Given the description of an element on the screen output the (x, y) to click on. 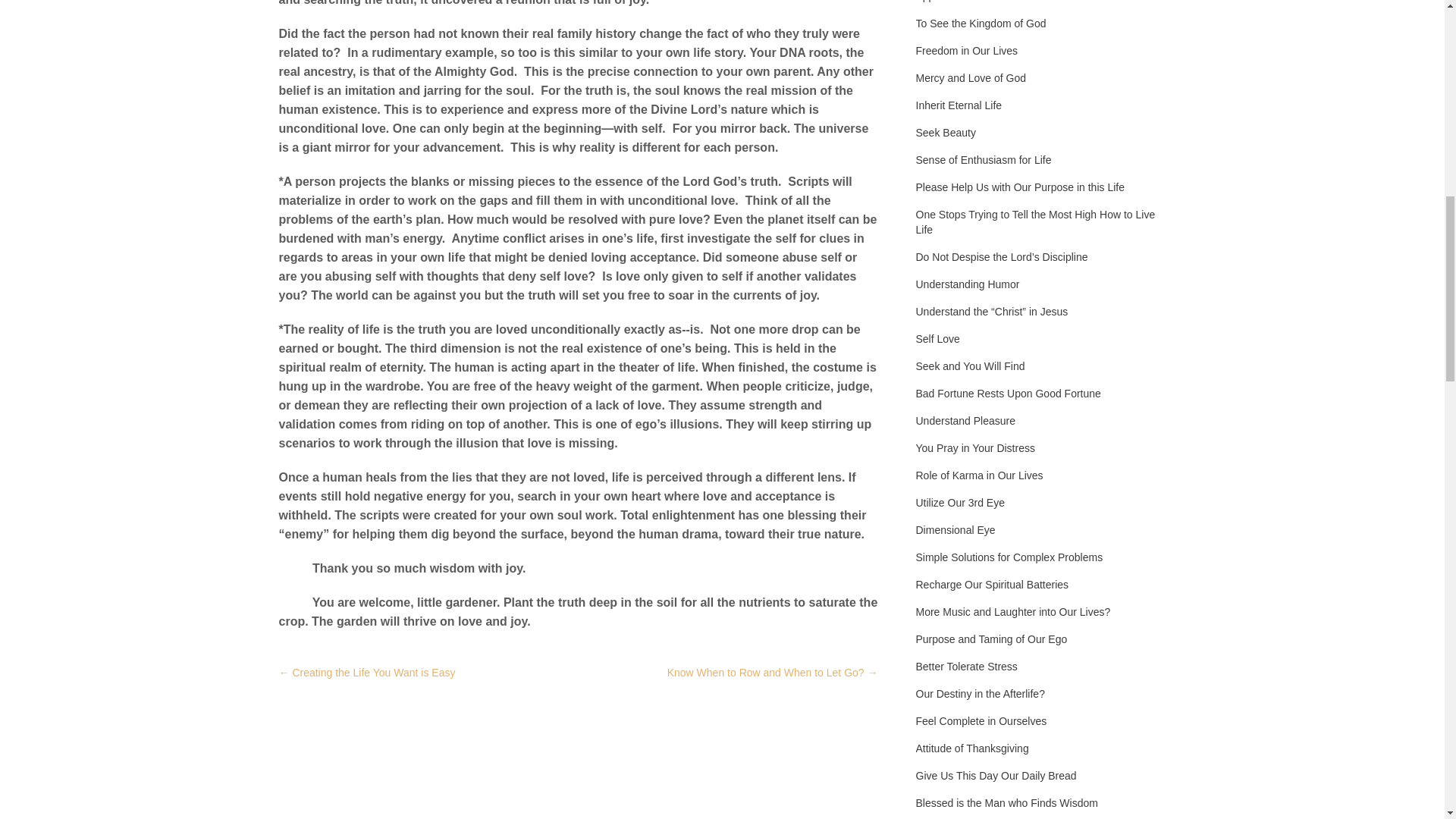
Seek Beauty (945, 131)
Self Love (937, 337)
Inherit Eternal Life (959, 104)
To See the Kingdom of God (980, 22)
Mercy and Love of God (970, 77)
Freedom in Our Lives (966, 49)
One Stops Trying to Tell the Most High How to Live Life (1040, 221)
Understanding Humor (967, 283)
Appreciation for Routines (975, 1)
Please Help Us with Our Purpose in this Life (1019, 186)
Sense of Enthusiasm for Life (983, 159)
